Given the description of an element on the screen output the (x, y) to click on. 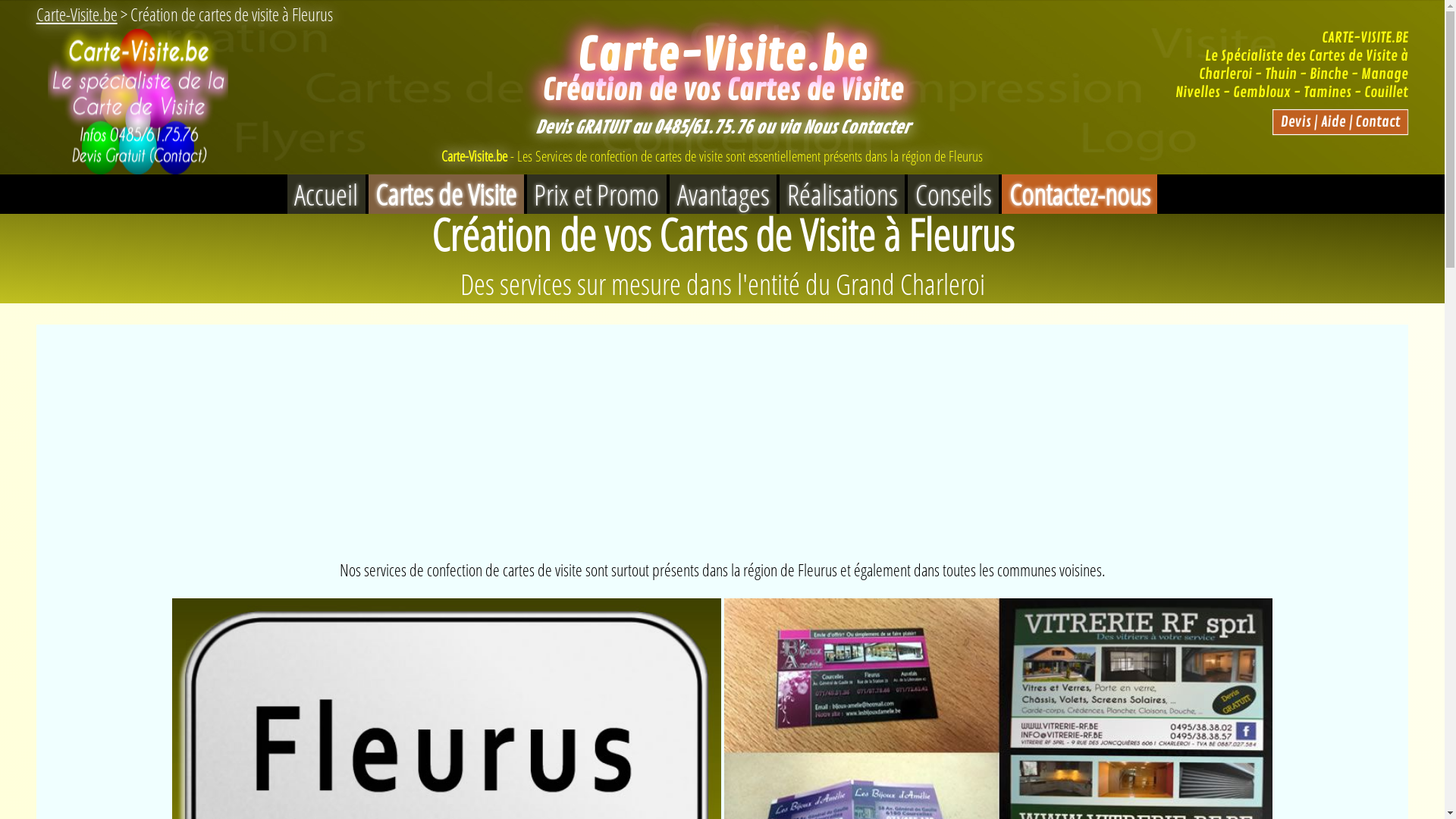
Advertisement Element type: hover (721, 430)
Accueil Element type: text (326, 193)
Conseils Element type: text (952, 193)
Carte-Visite.be Element type: text (76, 14)
Cartes de Visite Element type: text (446, 193)
Prix et Promo Element type: text (596, 193)
Devis | Aide | Contact Element type: text (1340, 121)
Contactez-nous Element type: text (1079, 193)
Avantages Element type: text (722, 193)
